Given the description of an element on the screen output the (x, y) to click on. 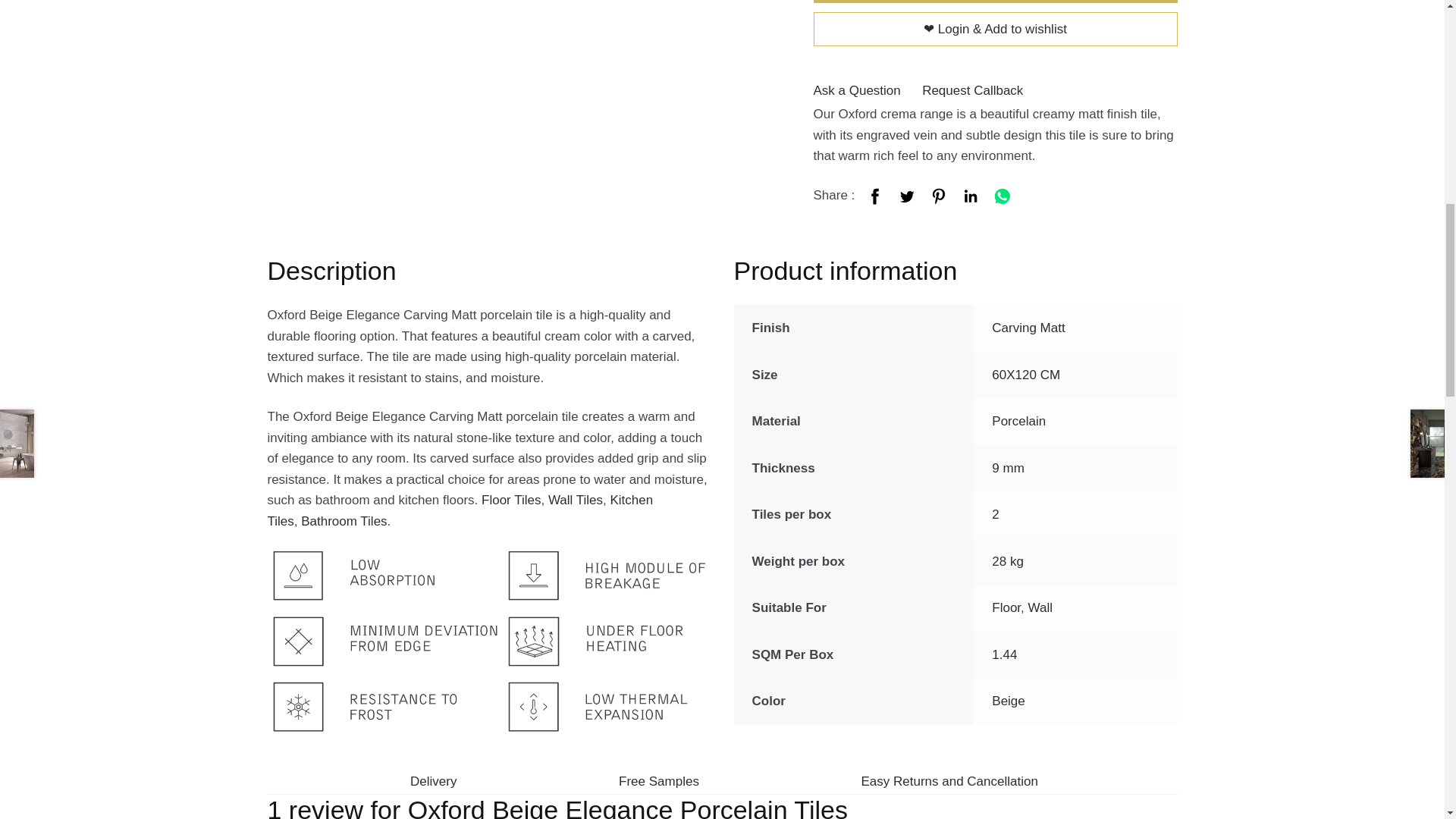
Request Callback (972, 90)
Ask a Question (855, 90)
